Given the description of an element on the screen output the (x, y) to click on. 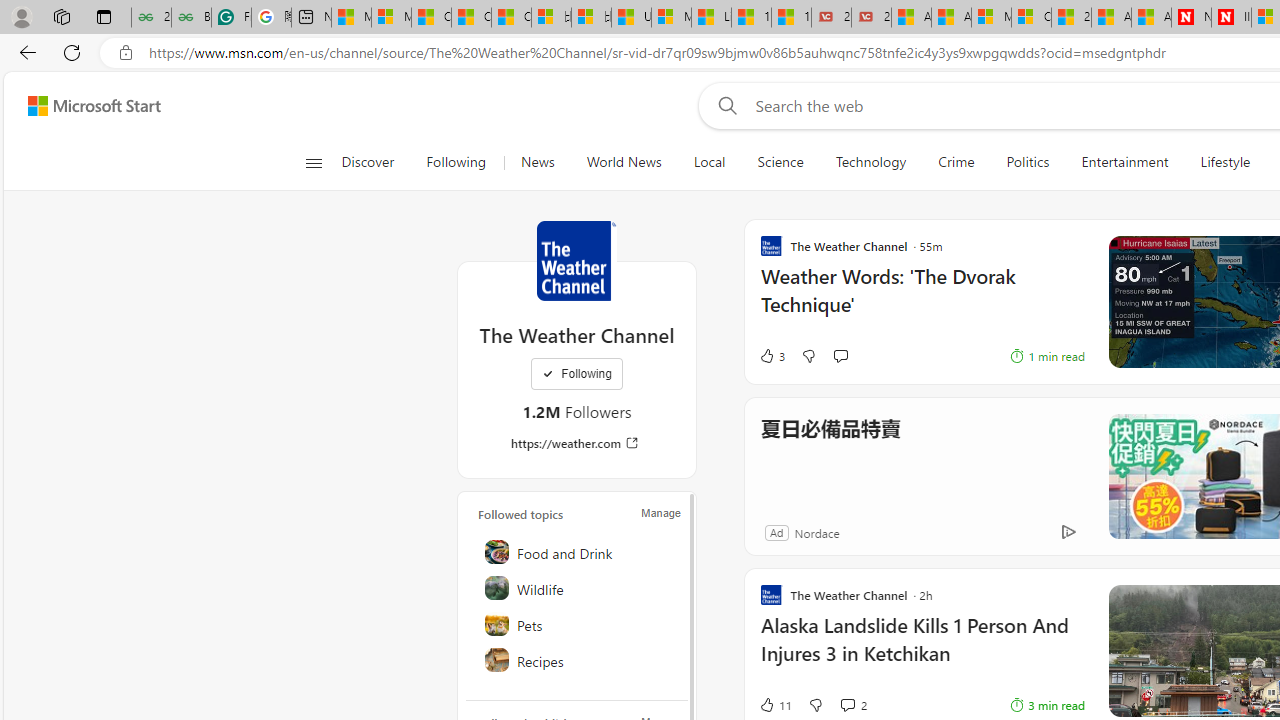
Pets (578, 623)
Illness news & latest pictures from Newsweek.com (1231, 17)
USA TODAY - MSN (631, 17)
21 Movies That Outdid the Books They Were Based On (871, 17)
Food and Drink (578, 551)
11 Like (775, 704)
